Given the description of an element on the screen output the (x, y) to click on. 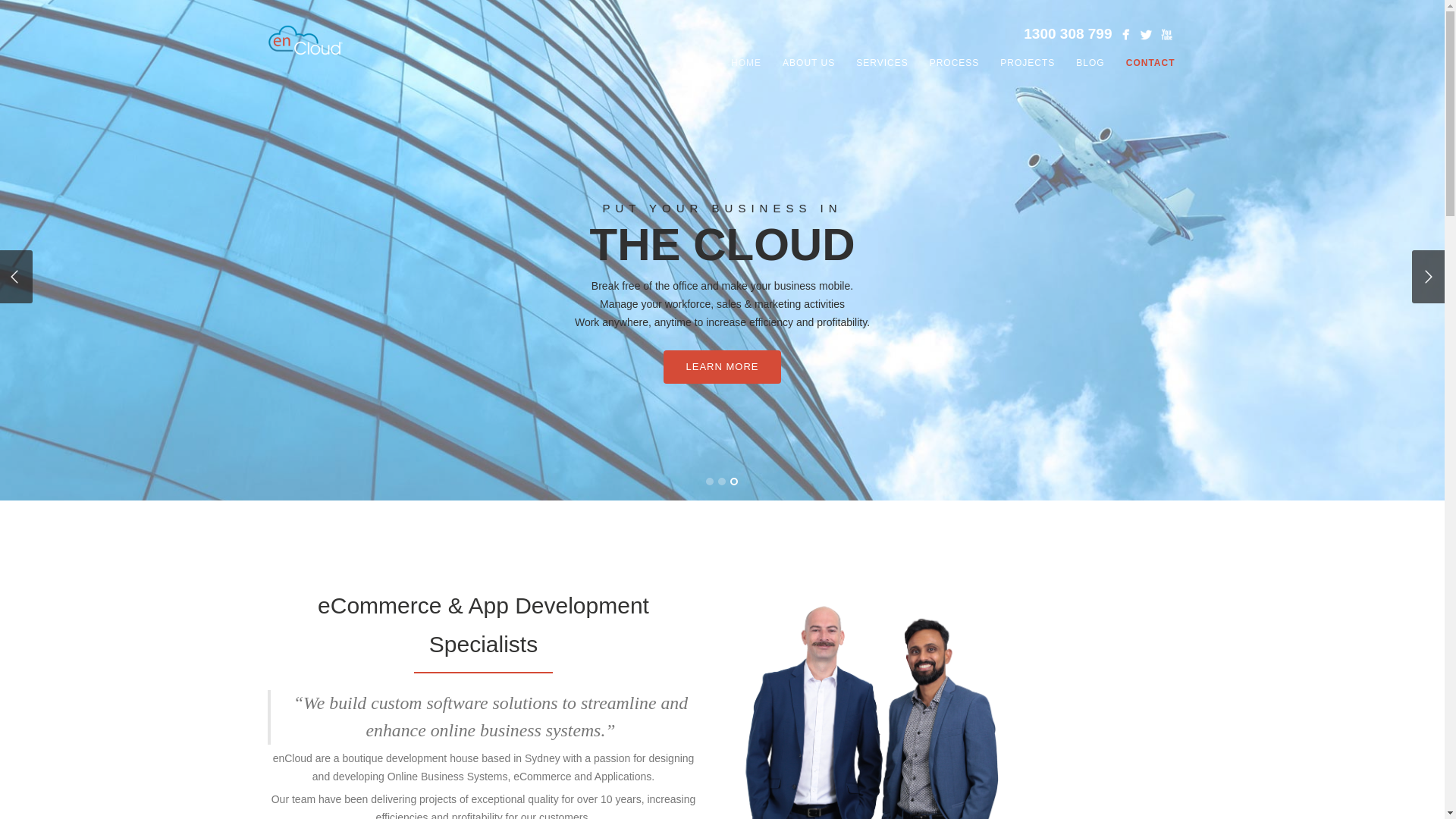
LEARN MORE Element type: text (796, 423)
CONTACT Element type: text (1150, 62)
PROCESS Element type: text (954, 62)
ABOUT US Element type: text (808, 62)
SERVICES Element type: text (881, 62)
PROJECTS Element type: text (1027, 62)
SEE OUR WORK Element type: text (942, 423)
HOME Element type: text (745, 62)
BLOG Element type: text (1089, 62)
